Given the description of an element on the screen output the (x, y) to click on. 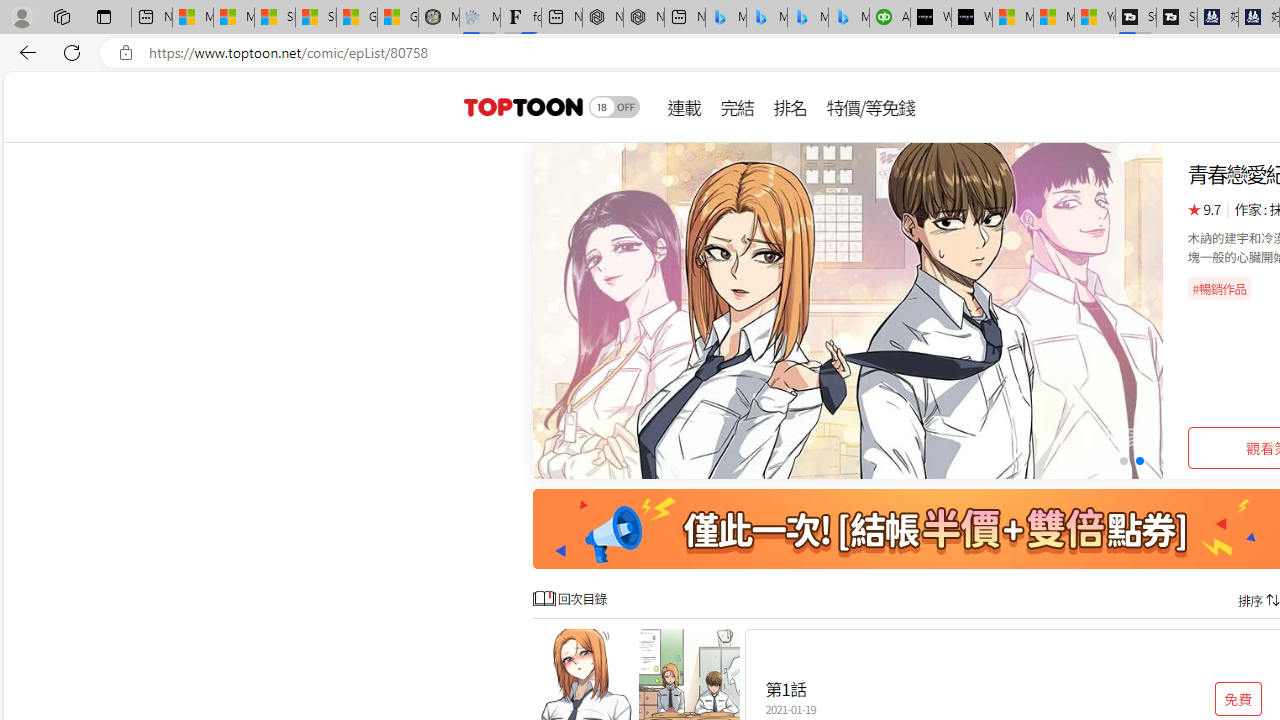
Class: swiper-slide swiper-slide-duplicate-active (847, 310)
Class:  switch_18mode actionAdultBtn (614, 106)
